Given the description of an element on the screen output the (x, y) to click on. 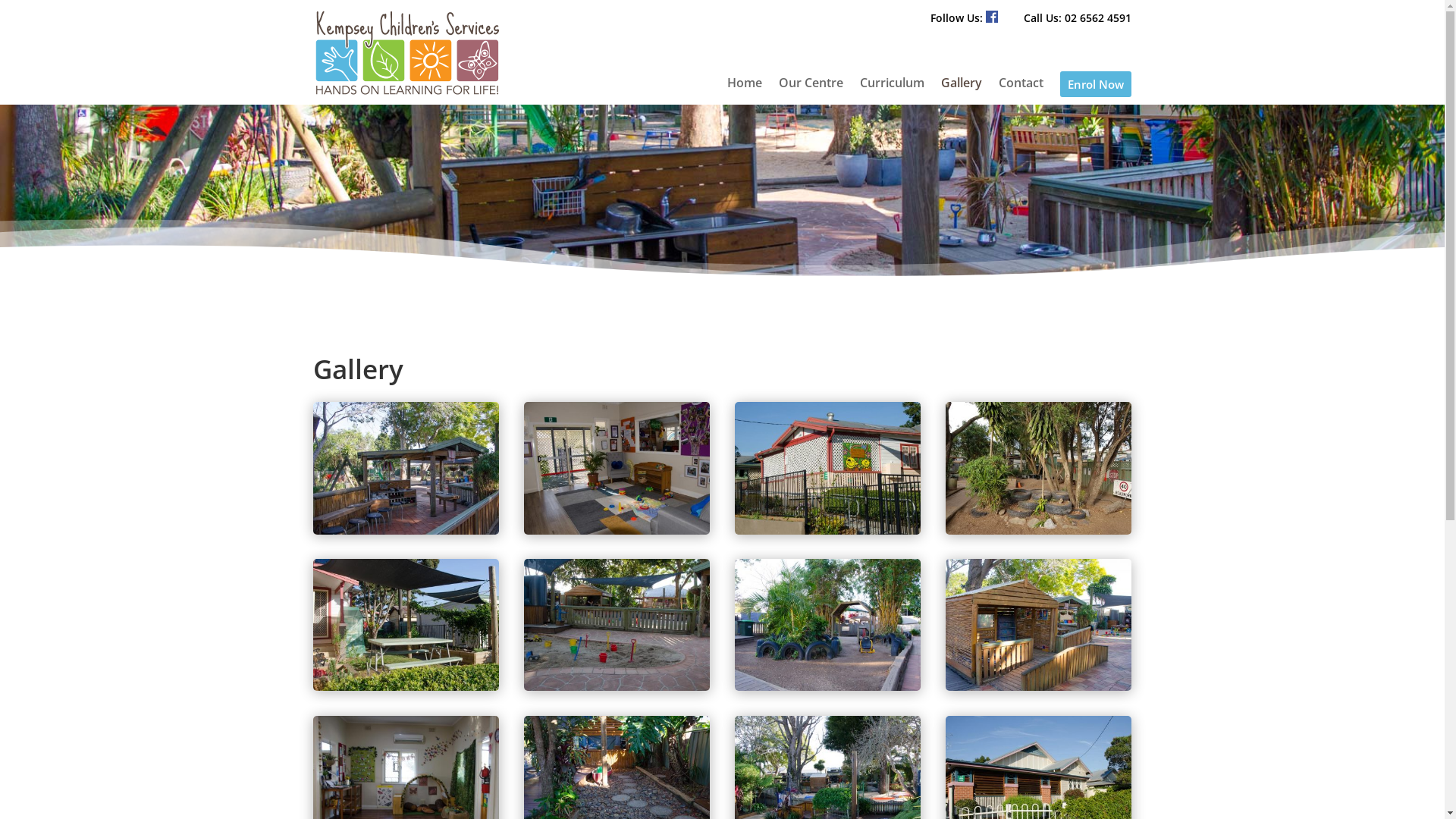
DSC_9037 Element type: hover (405, 685)
Curriculum Element type: text (891, 87)
DSC_9183 Element type: hover (617, 529)
Home Element type: text (744, 87)
Our Centre Element type: text (810, 87)
Call Us: 02 6562 4591 Element type: text (1077, 17)
DSC_9136 Element type: hover (405, 529)
DSC_9054 Element type: hover (1038, 685)
logo-500 Element type: hover (407, 52)
Follow Us: Element type: text (963, 17)
Enrol Now Element type: text (1095, 87)
DSC_9031 Element type: hover (827, 529)
DSC_8982 Element type: hover (827, 685)
20200601_083214 Element type: hover (1038, 529)
DSC_9022 Element type: hover (617, 685)
Contact Element type: text (1020, 87)
Gallery Element type: text (961, 87)
